Given the description of an element on the screen output the (x, y) to click on. 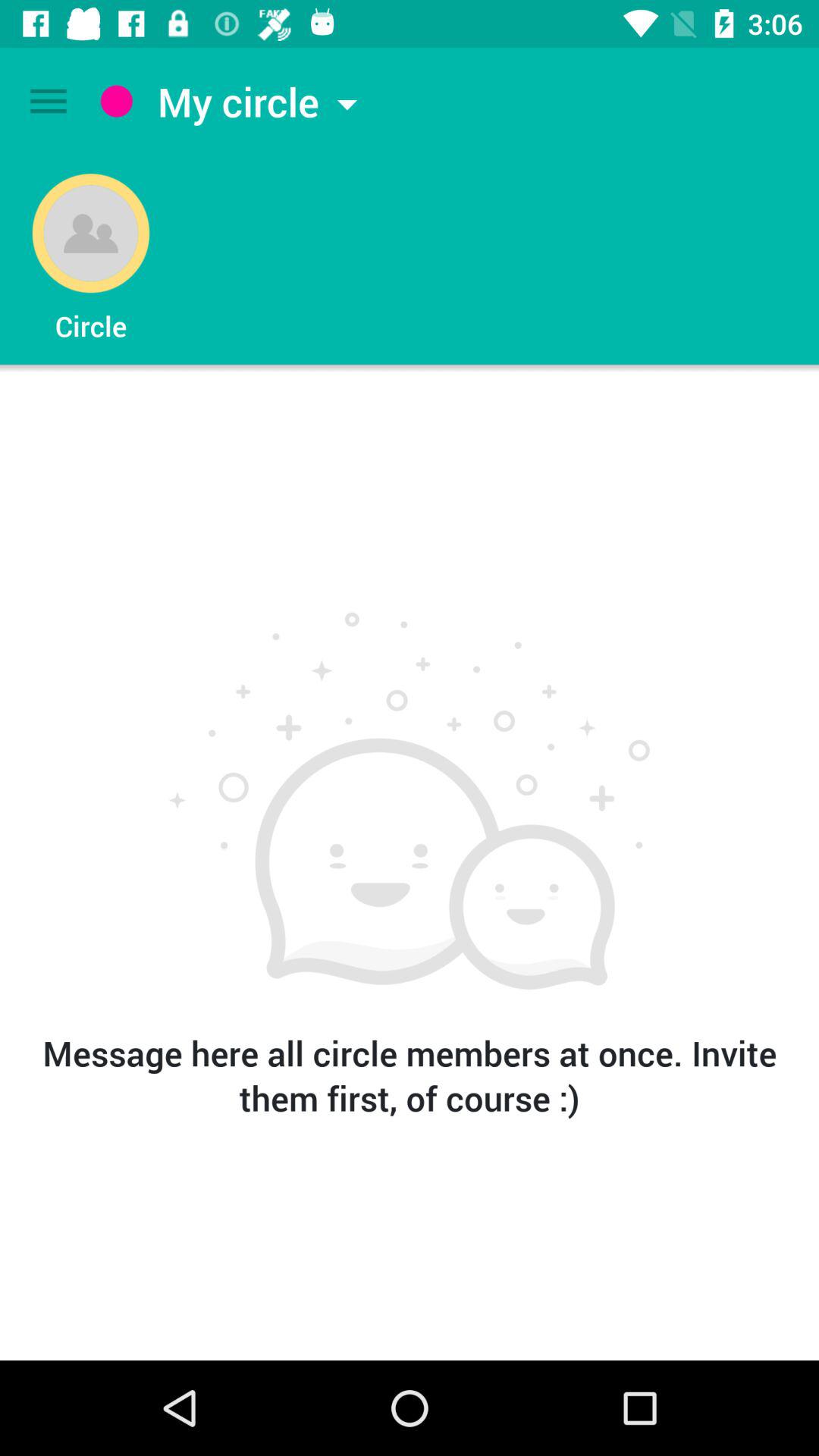
click on the user icon which is above the text circle (90, 233)
